Given the description of an element on the screen output the (x, y) to click on. 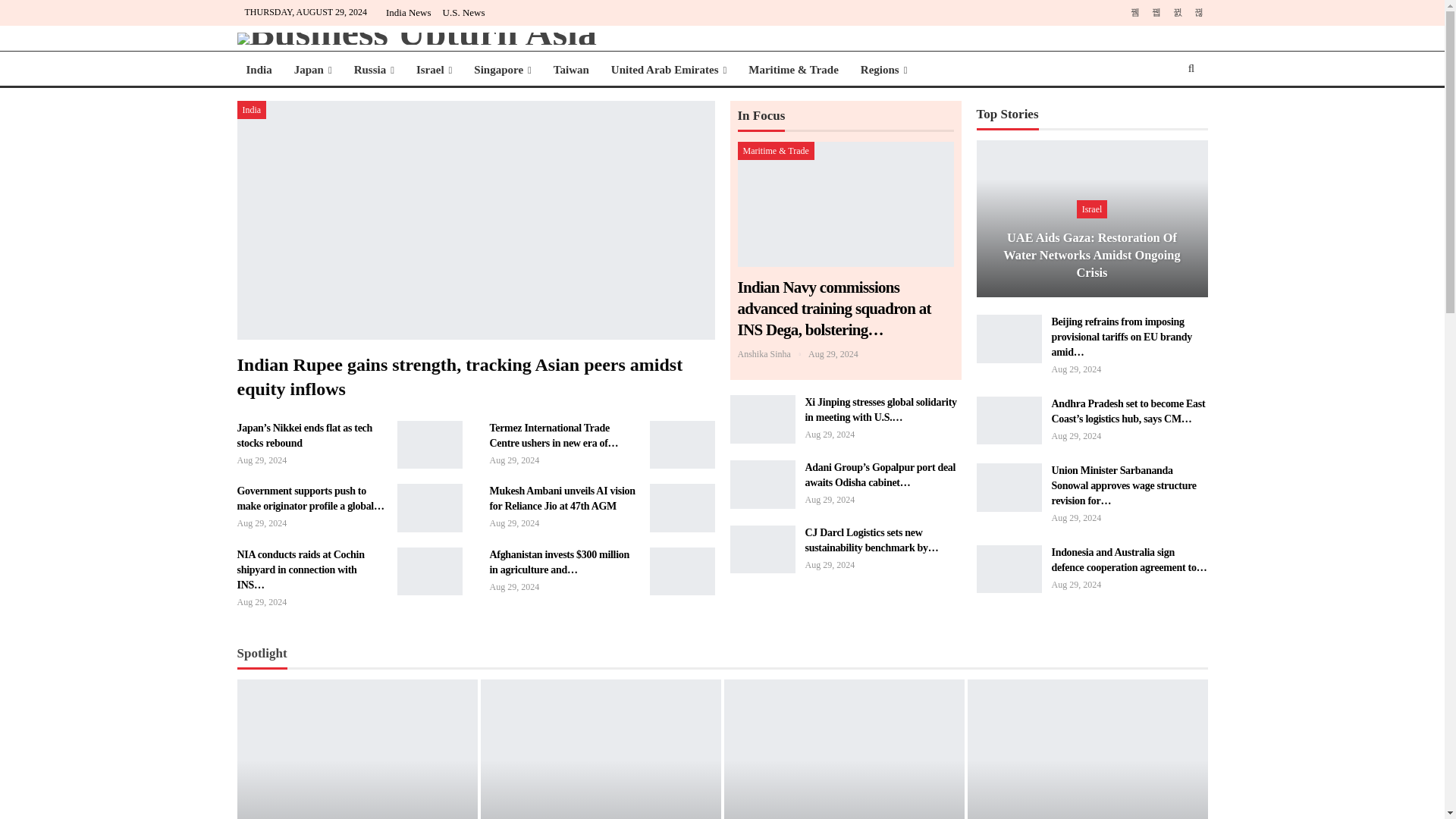
Israel (434, 69)
Singapore (502, 69)
U.S. News (463, 12)
United Arab Emirates (668, 69)
Regions (884, 69)
Japan (312, 69)
Mukesh Ambani unveils AI vision for Reliance Jio at 47th AGM (681, 508)
India News (407, 12)
